Given the description of an element on the screen output the (x, y) to click on. 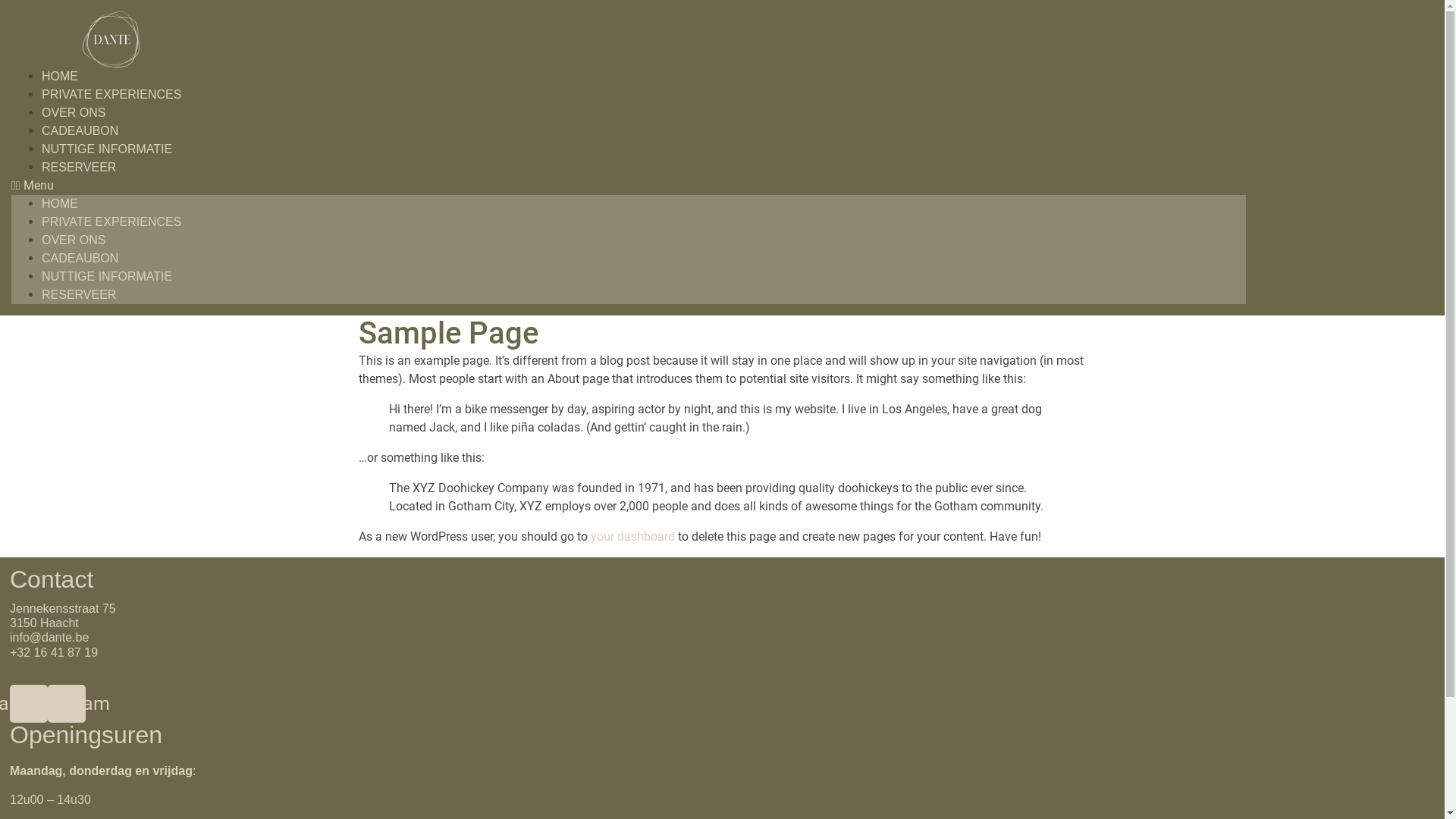
OVER ONS Element type: text (73, 239)
PRIVATE EXPERIENCES Element type: text (111, 93)
NUTTIGE INFORMATIE Element type: text (106, 148)
Instagram Element type: text (66, 703)
HOME Element type: text (59, 203)
RESERVEER Element type: text (78, 294)
RESERVEER Element type: text (78, 166)
CADEAUBON Element type: text (79, 257)
info@dante.be Element type: text (48, 636)
PRIVATE EXPERIENCES Element type: text (111, 221)
Facebook Element type: text (28, 703)
NUTTIGE INFORMATIE Element type: text (106, 275)
CADEAUBON Element type: text (79, 130)
OVER ONS Element type: text (73, 112)
HOME Element type: text (59, 75)
your dashboard Element type: text (631, 536)
